Given the description of an element on the screen output the (x, y) to click on. 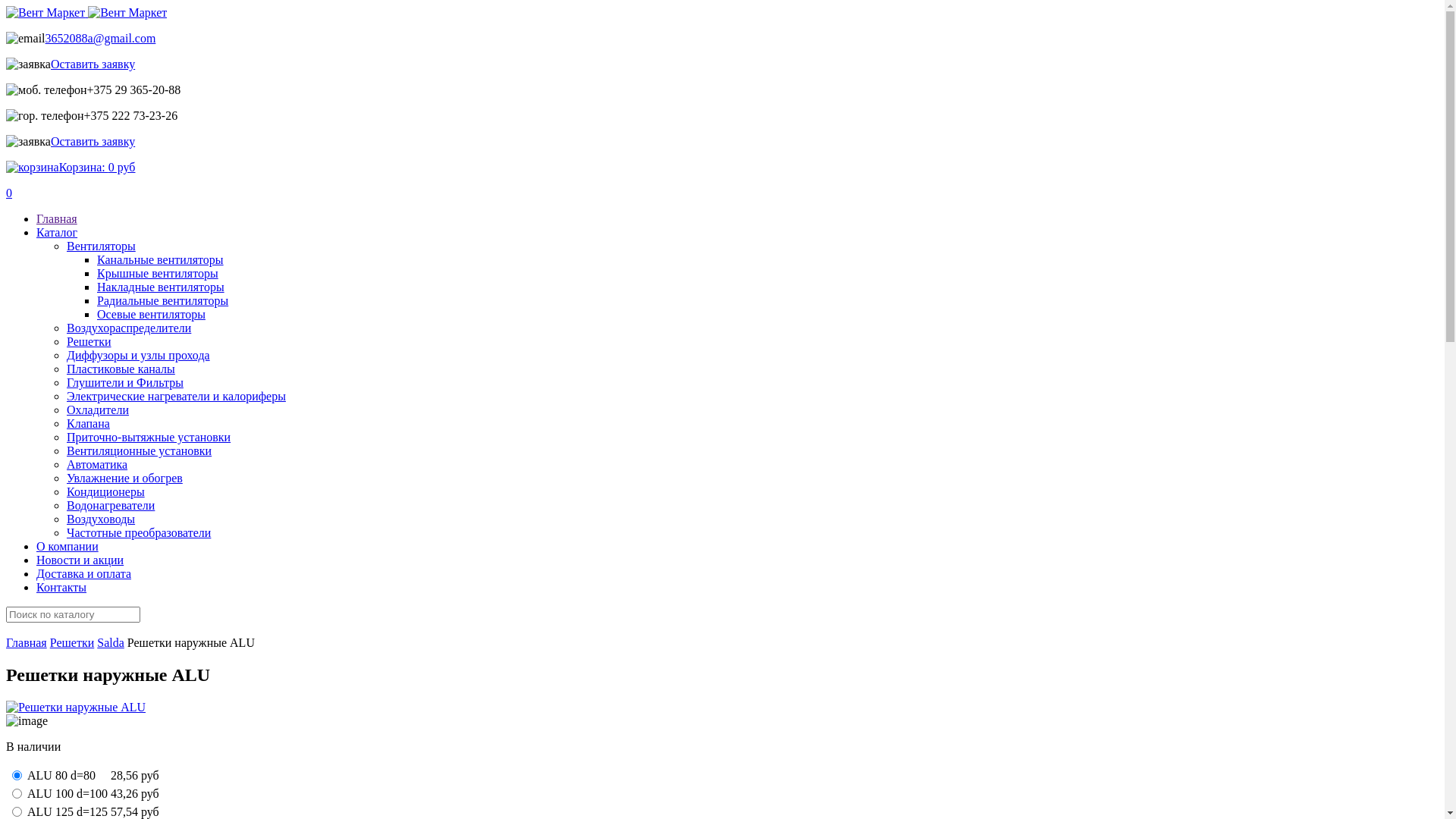
Salda Element type: text (110, 642)
3652088a@gmail.com Element type: text (100, 37)
